Given the description of an element on the screen output the (x, y) to click on. 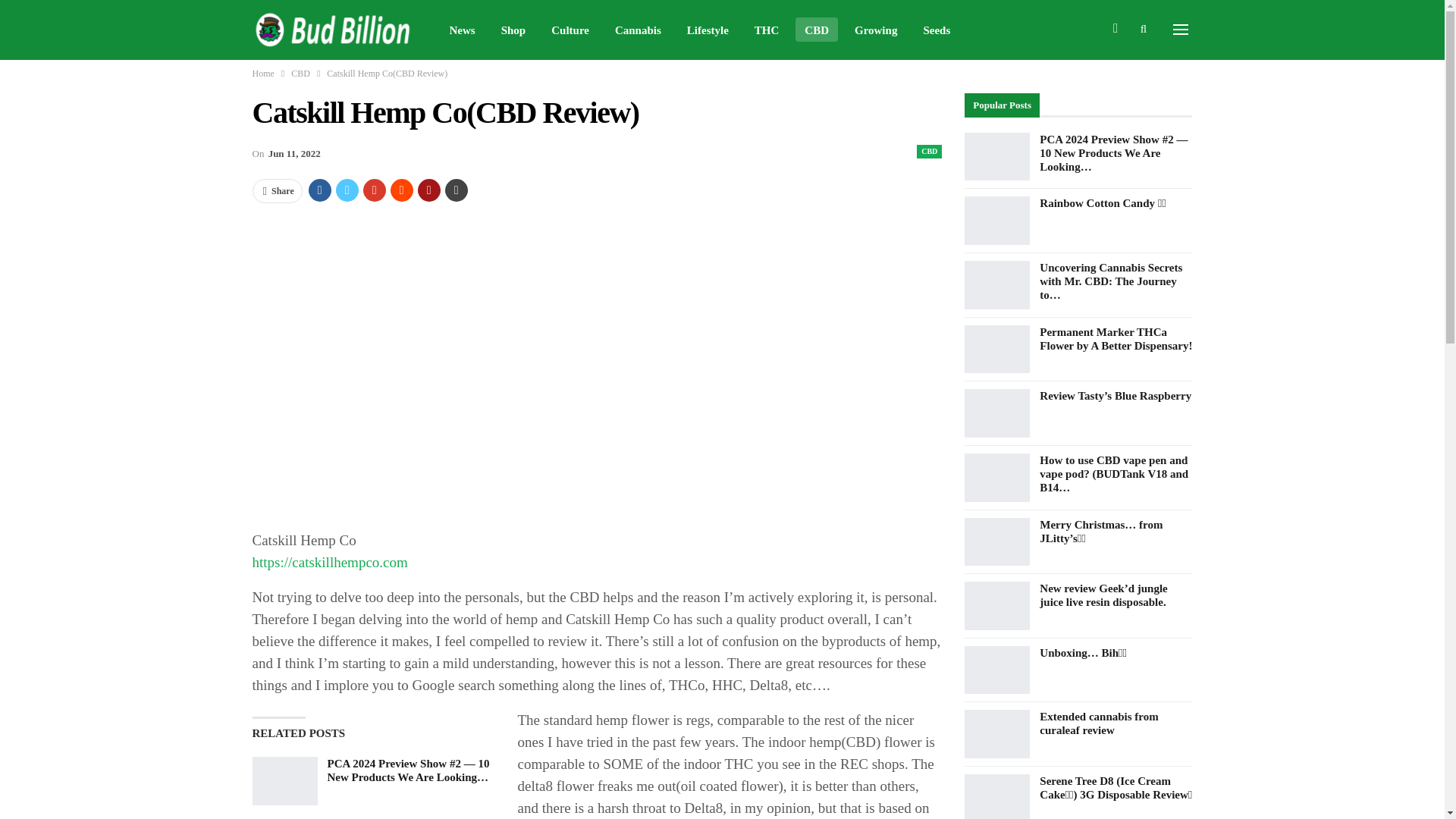
CBD (929, 151)
THC (767, 29)
Growing (875, 29)
Home (262, 73)
CBD (300, 73)
Shop (513, 29)
Cannabis (637, 29)
News (461, 29)
CBD (816, 29)
Seeds (936, 29)
Culture (569, 29)
Lifestyle (708, 29)
